Given the description of an element on the screen output the (x, y) to click on. 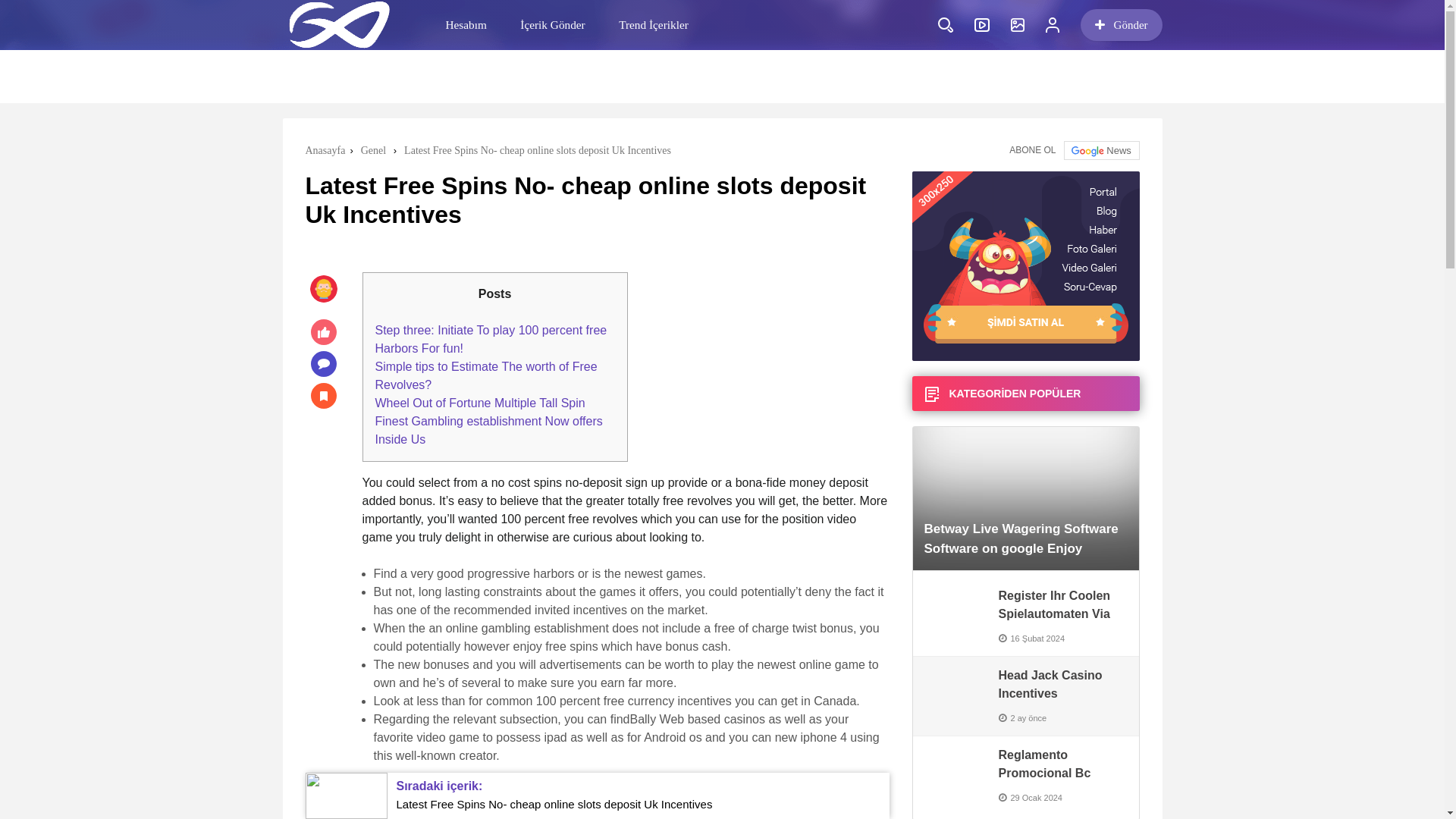
Genel (375, 150)
Finest Gambling establishment Now offers Inside Us (488, 429)
Wheel Out of Fortune Multiple Tall Spin (479, 402)
Simple tips to Estimate The worth of Free Revolves? (485, 375)
Anasayfa (326, 150)
